Given the description of an element on the screen output the (x, y) to click on. 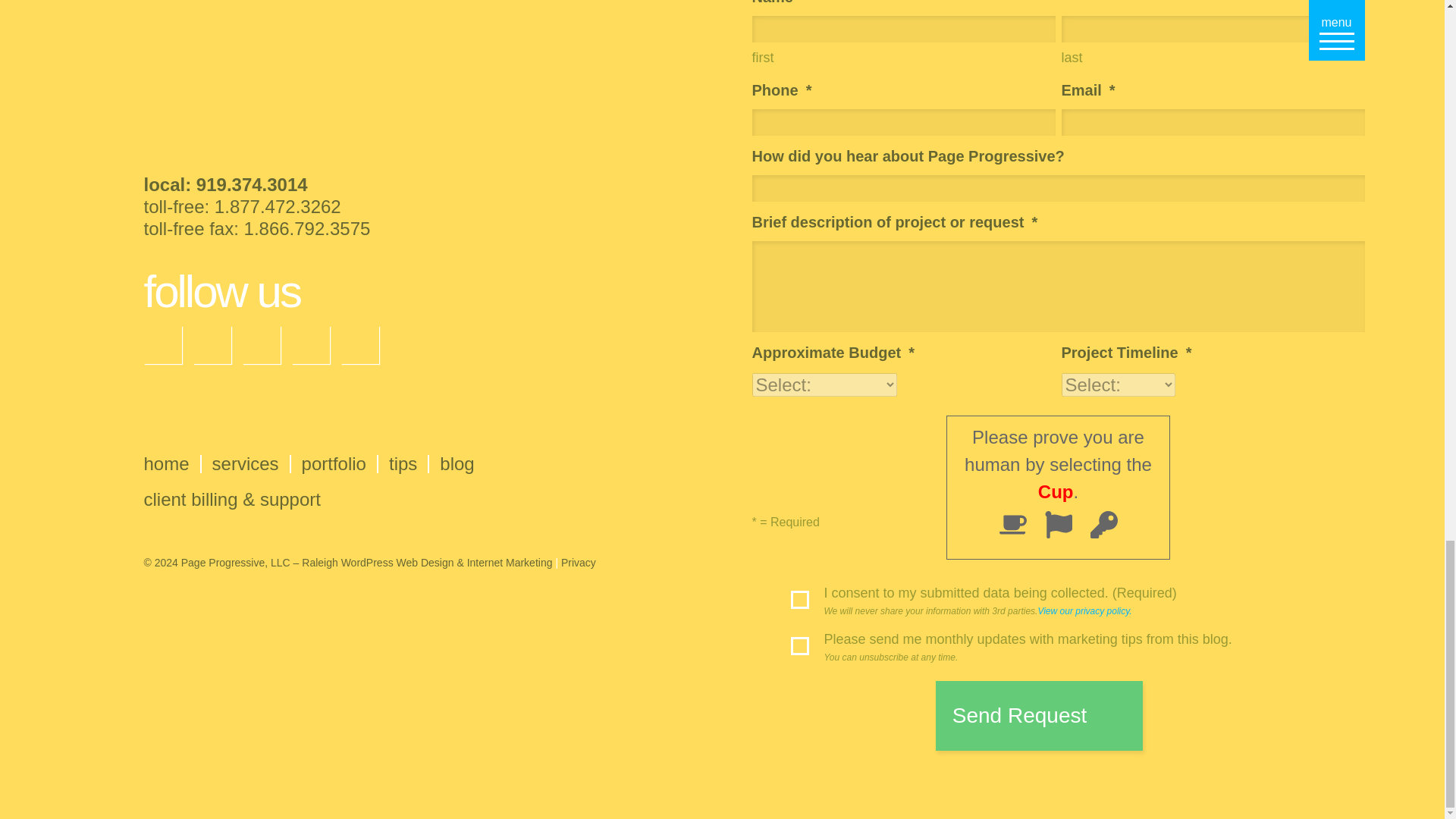
View our privacy policy. (1083, 611)
services (245, 463)
blog (456, 463)
home (166, 463)
tips (402, 463)
Send Request (1039, 715)
portfolio (333, 463)
Privacy (577, 562)
